Given the description of an element on the screen output the (x, y) to click on. 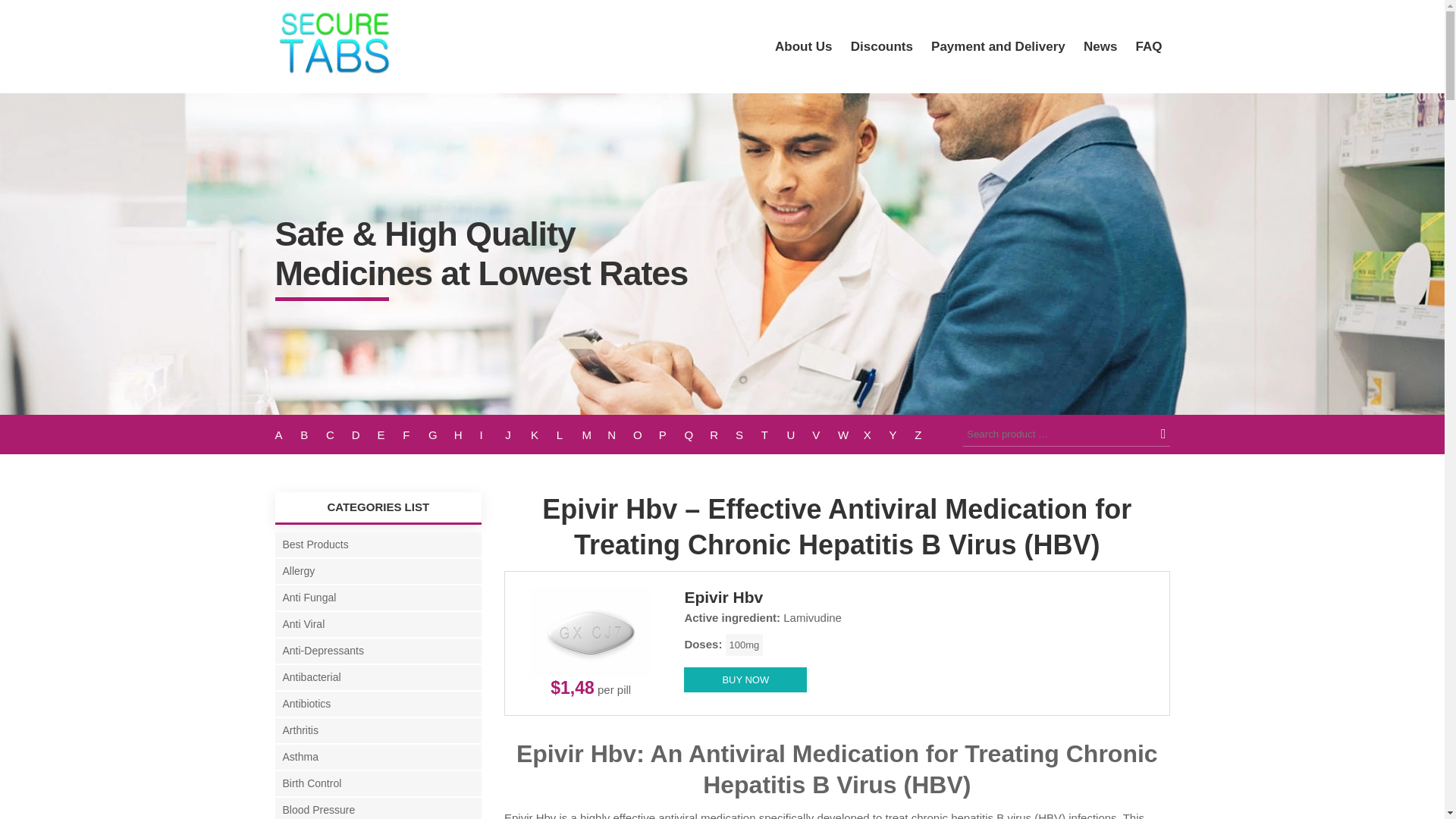
Payment and Delivery (998, 46)
Product by N  (620, 434)
Discounts (881, 46)
Product by S  (748, 434)
R (722, 434)
U (799, 434)
Product by A  (287, 434)
FAQ (1149, 46)
J (518, 434)
Product by Q  (697, 434)
Product by P  (671, 434)
Product by I  (492, 434)
H (467, 434)
Product by G  (441, 434)
Product by L  (569, 434)
